Given the description of an element on the screen output the (x, y) to click on. 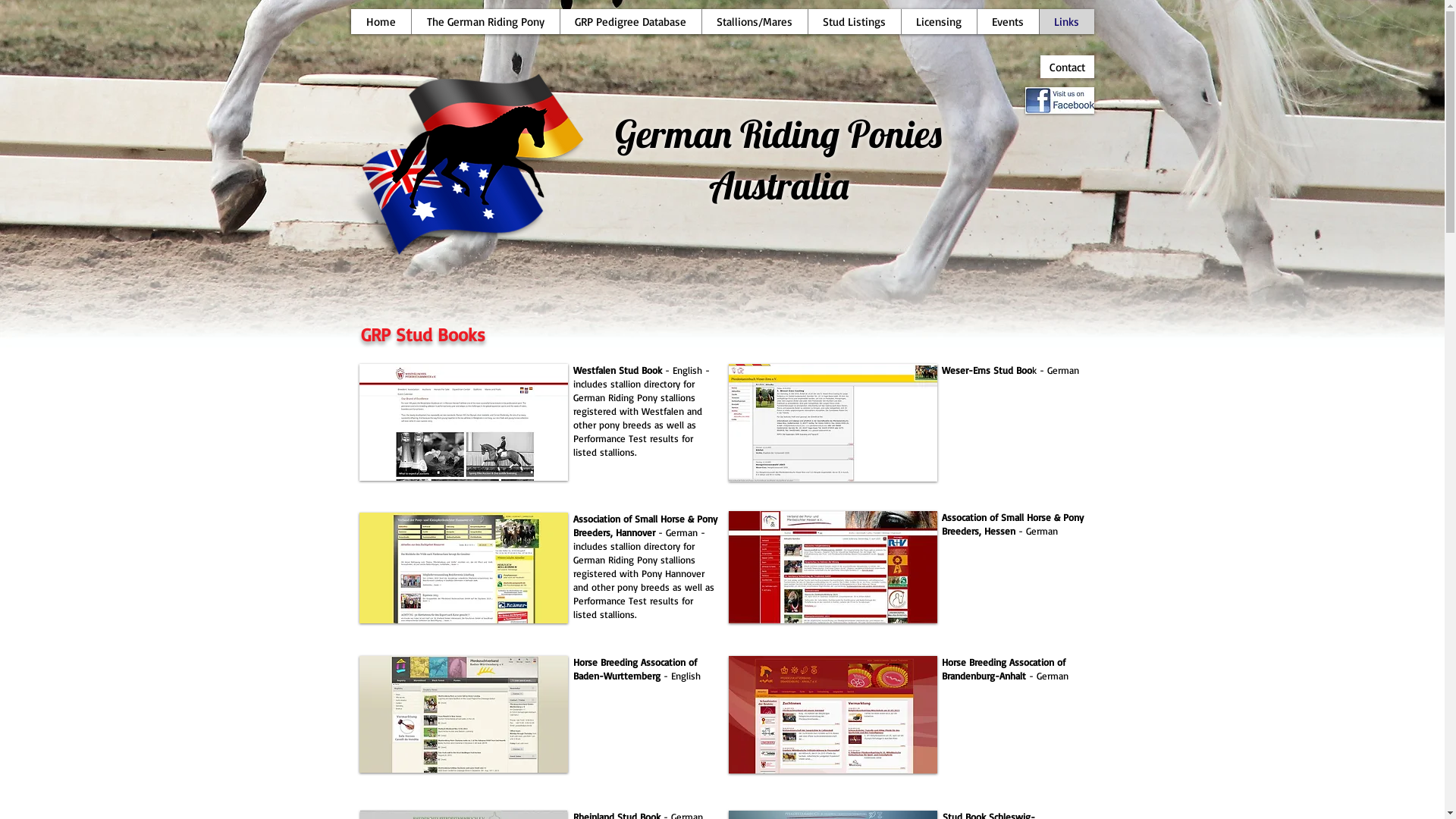
Stud Listings Element type: text (853, 21)
Contact Element type: text (1067, 66)
The German Riding Pony Element type: text (485, 21)
Events Element type: text (1007, 21)
Home Element type: text (380, 21)
GRP Pedigree Database Element type: text (630, 21)
Links Element type: text (1066, 21)
Stallions/Mares Element type: text (753, 21)
Licensing Element type: text (938, 21)
